Given the description of an element on the screen output the (x, y) to click on. 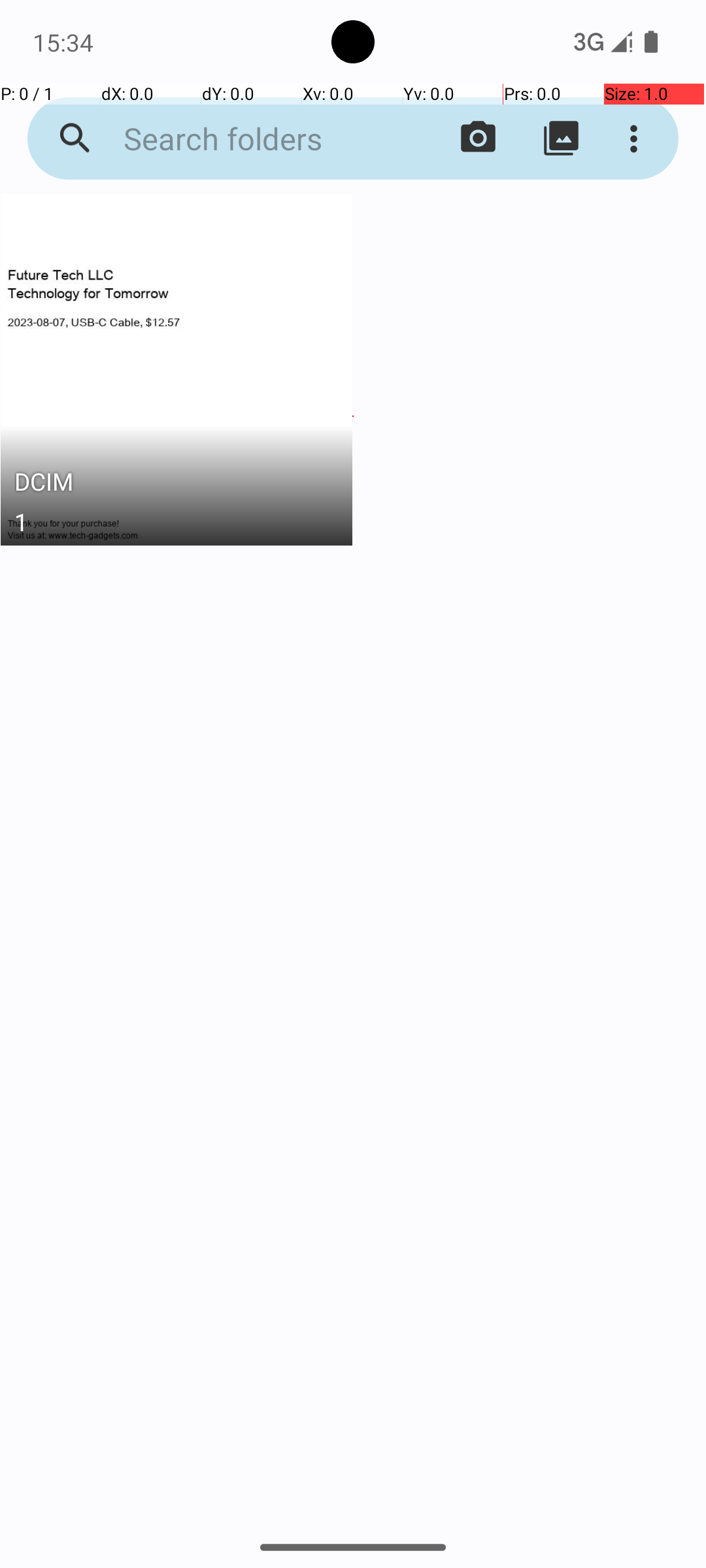
Open camera Element type: android.widget.Button (477, 138)
Show all folders content Element type: android.widget.Button (560, 138)
DCIM Element type: android.widget.TextView (176, 484)
